Given the description of an element on the screen output the (x, y) to click on. 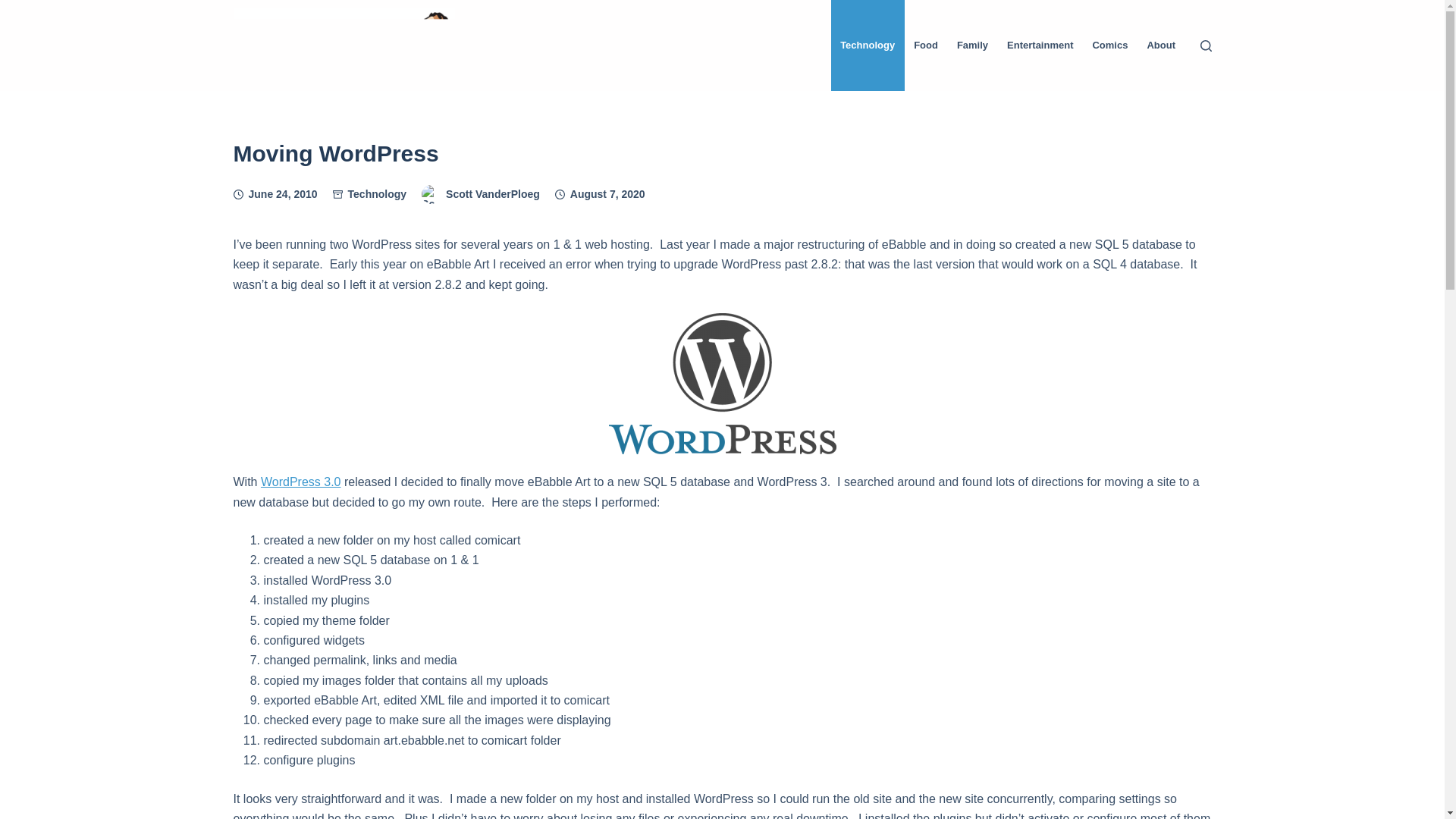
Scott VanderPloeg (492, 193)
Technology (377, 193)
Entertainment (1040, 45)
Skip to content (15, 7)
WordPress 3.0 (300, 481)
Moving WordPress (721, 153)
wordpress-logo-stacked-rgb (721, 383)
Posts by Scott VanderPloeg (492, 193)
